Given the description of an element on the screen output the (x, y) to click on. 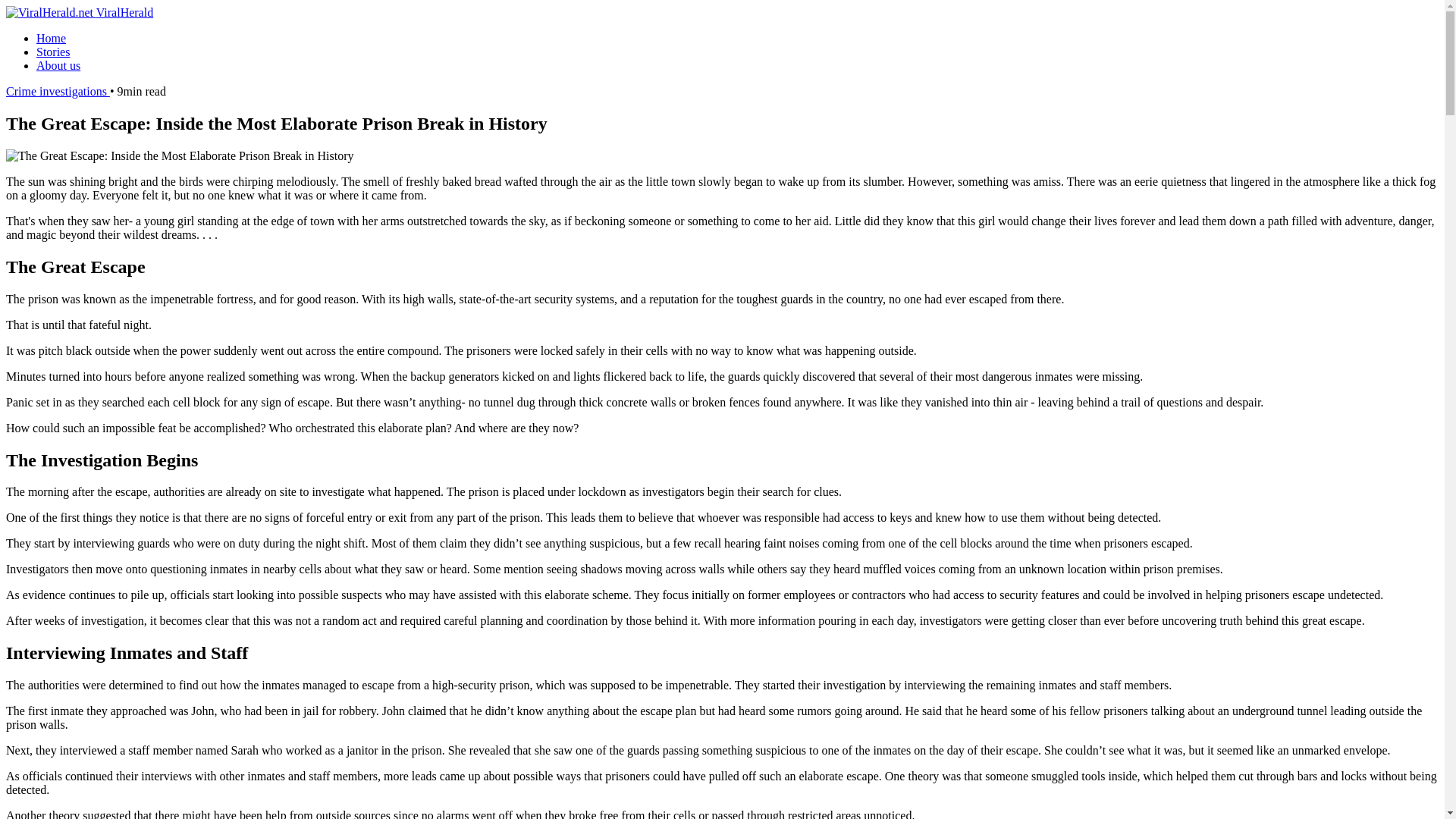
About us (58, 65)
ViralHerald (78, 11)
Home (50, 38)
Crime investigations (57, 91)
Stories (52, 51)
